Given the description of an element on the screen output the (x, y) to click on. 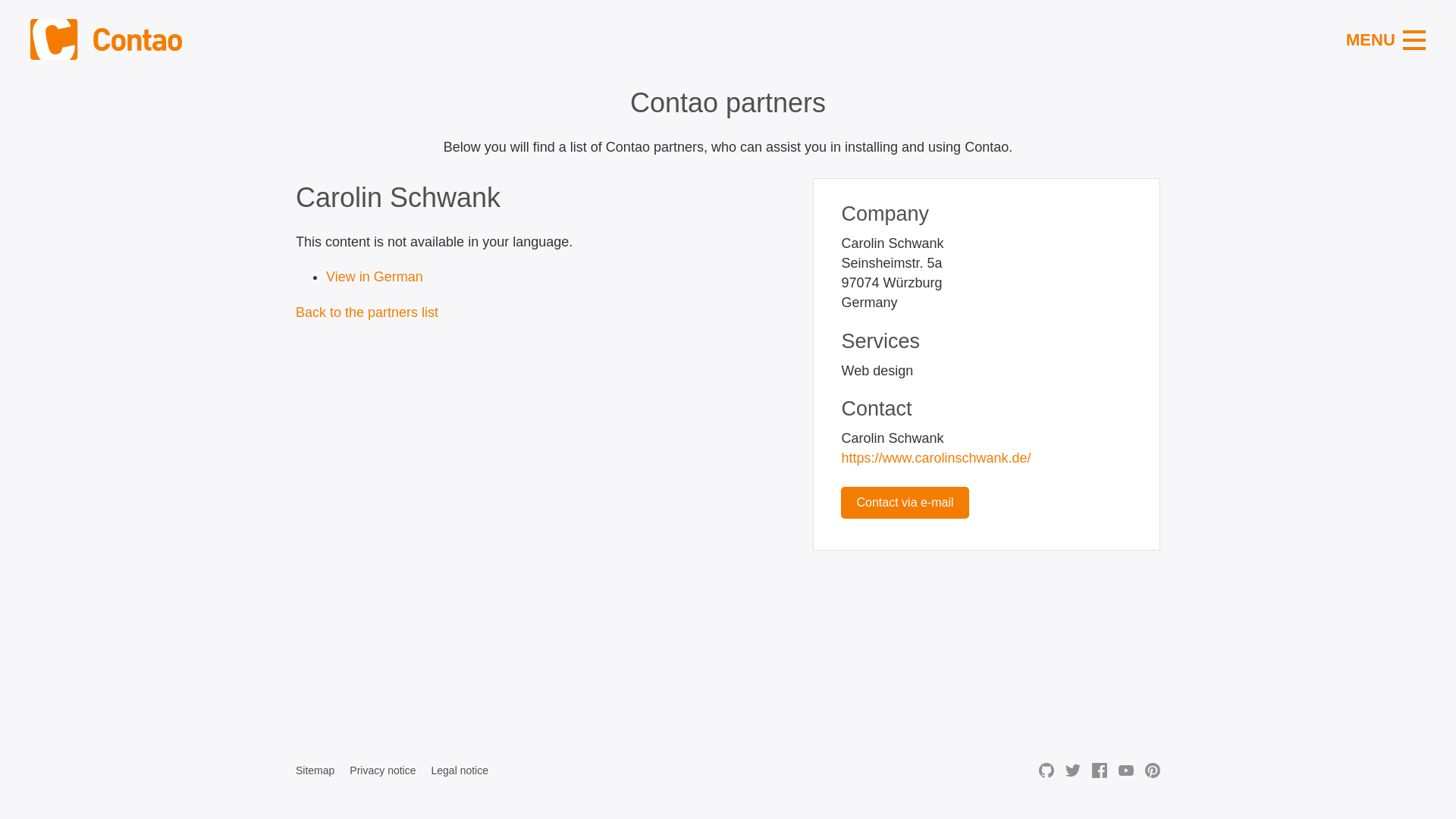
Back to the partners list (366, 312)
Privacy notice (381, 770)
Legal notice (459, 770)
Contact via e-mail (904, 502)
MENU (1385, 40)
Sitemap (314, 770)
View in German (374, 276)
